Given the description of an element on the screen output the (x, y) to click on. 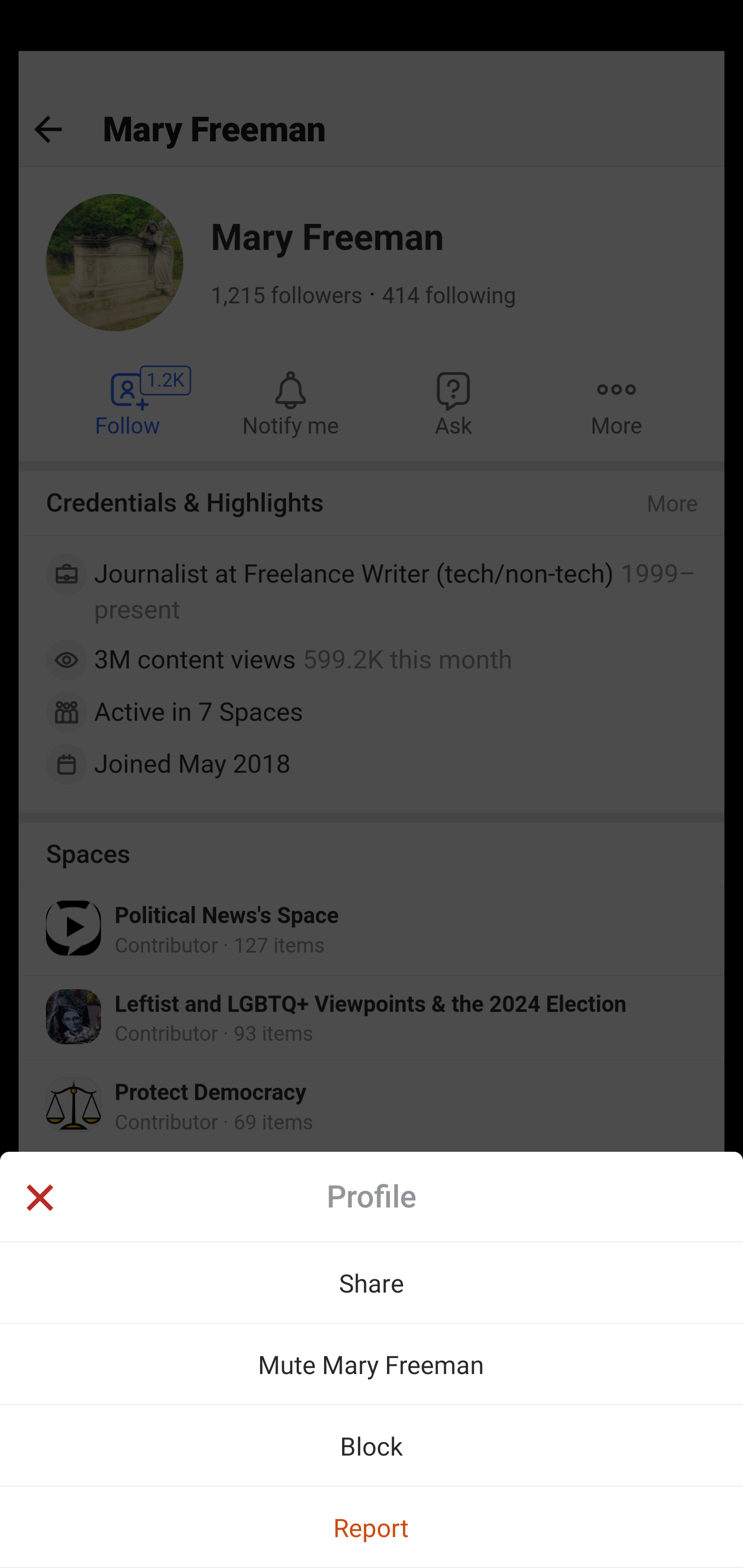
 Profile (371, 1196)
 (39, 1199)
Share (371, 1282)
Mute Mary Freeman (371, 1363)
Block (371, 1445)
Report (371, 1527)
